Given the description of an element on the screen output the (x, y) to click on. 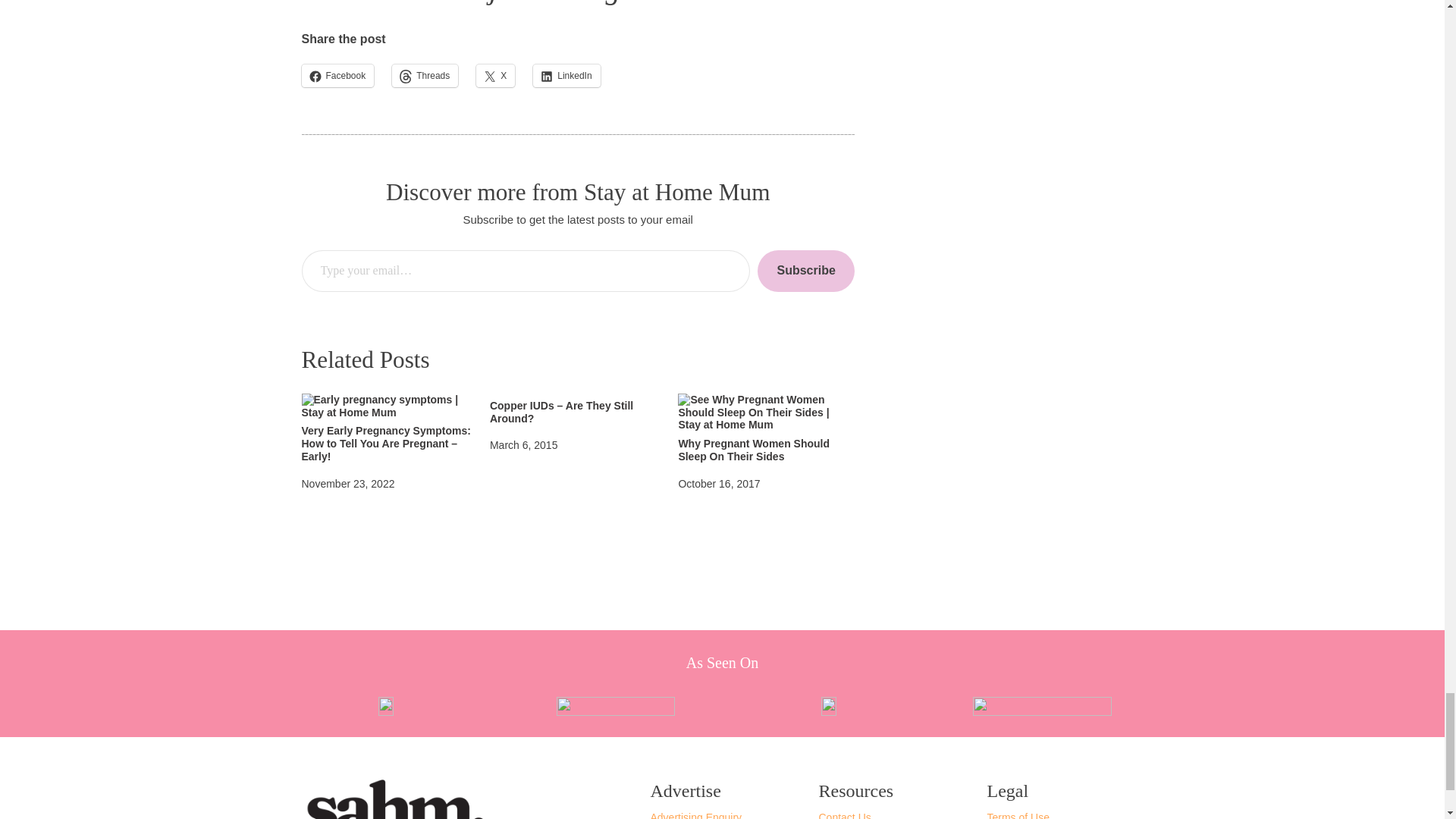
Please fill in this field. (526, 270)
